Given the description of an element on the screen output the (x, y) to click on. 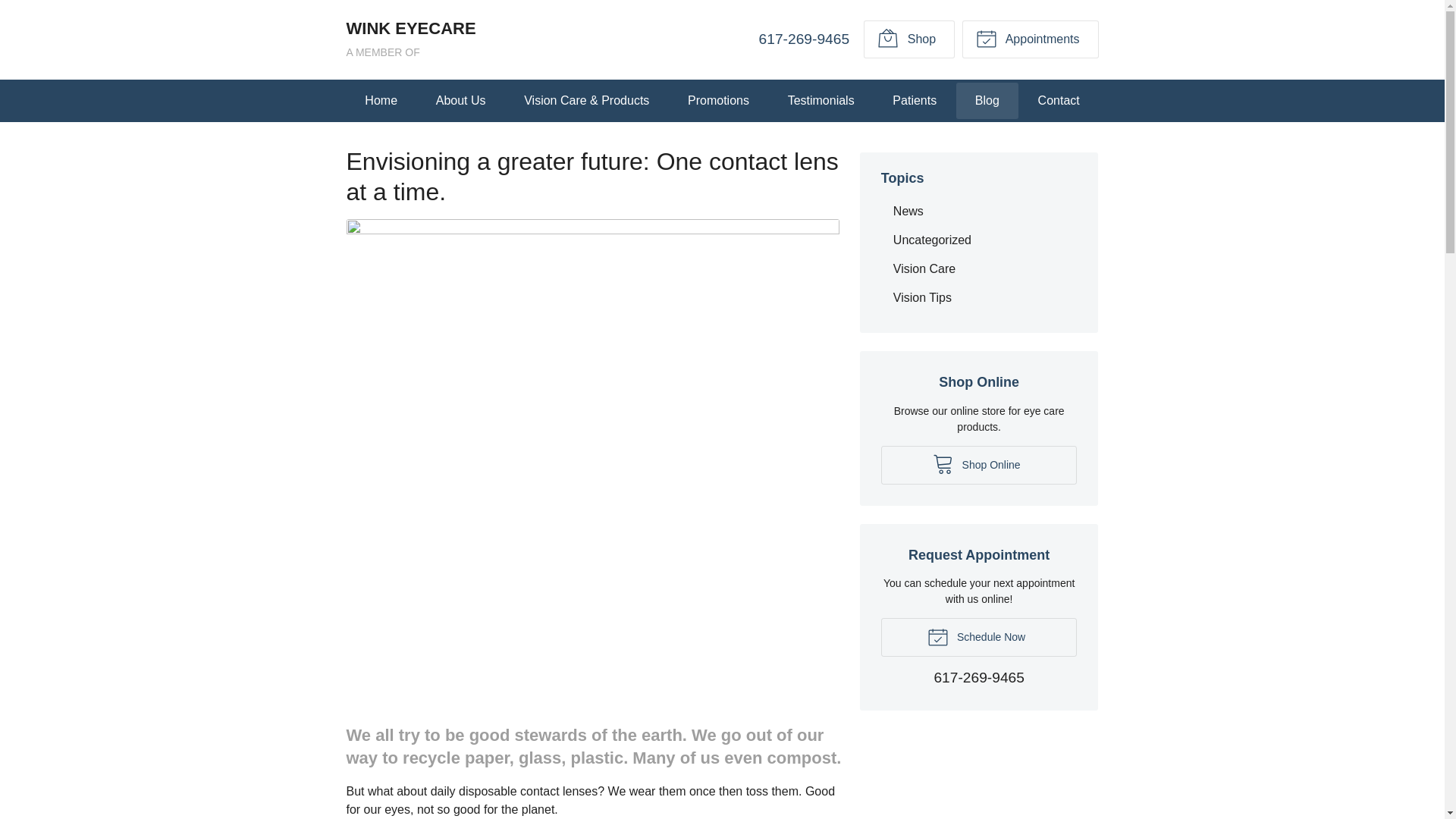
Call practice (979, 678)
Promotions (718, 100)
Home (380, 100)
About Us (460, 100)
Uncategorized (978, 239)
Call practice (804, 38)
Vision Care (978, 268)
Wink Eyecare (445, 39)
Blog (986, 100)
Patients (915, 100)
Shop Online (909, 39)
Vision Tips (978, 297)
Schedule Now (978, 637)
617-269-9465 (804, 38)
Testimonials (820, 100)
